Given the description of an element on the screen output the (x, y) to click on. 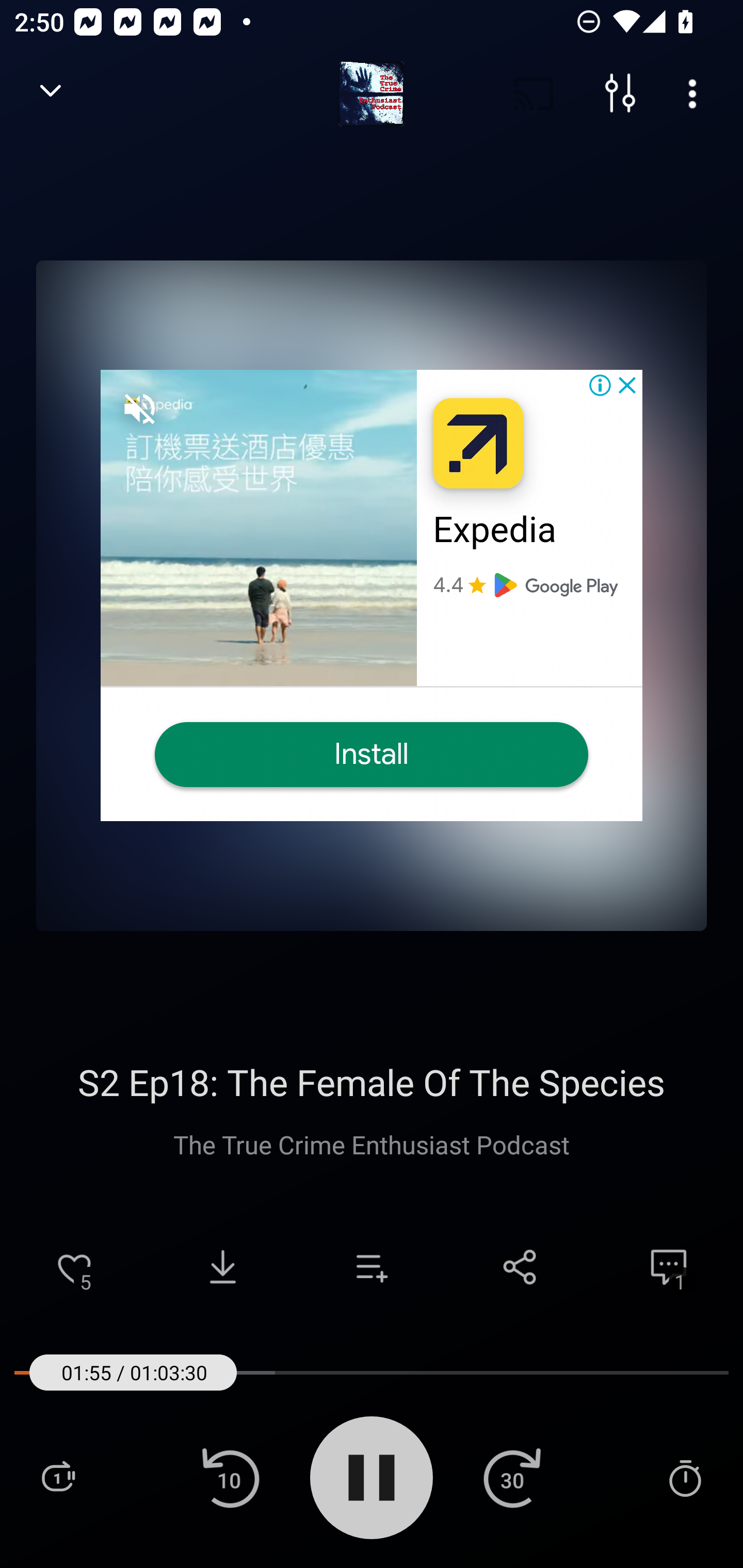
 Back (50, 94)
Expedia 4.4 Install Install (371, 595)
Install (371, 753)
S2 Ep18: The Female Of The Species (371, 1081)
The True Crime Enthusiast Podcast (371, 1144)
1 Comments (668, 1266)
Add to Favorites (73, 1266)
Add to playlist (371, 1266)
Share (519, 1266)
 Playlist (57, 1477)
Sleep Timer  (684, 1477)
